Given the description of an element on the screen output the (x, y) to click on. 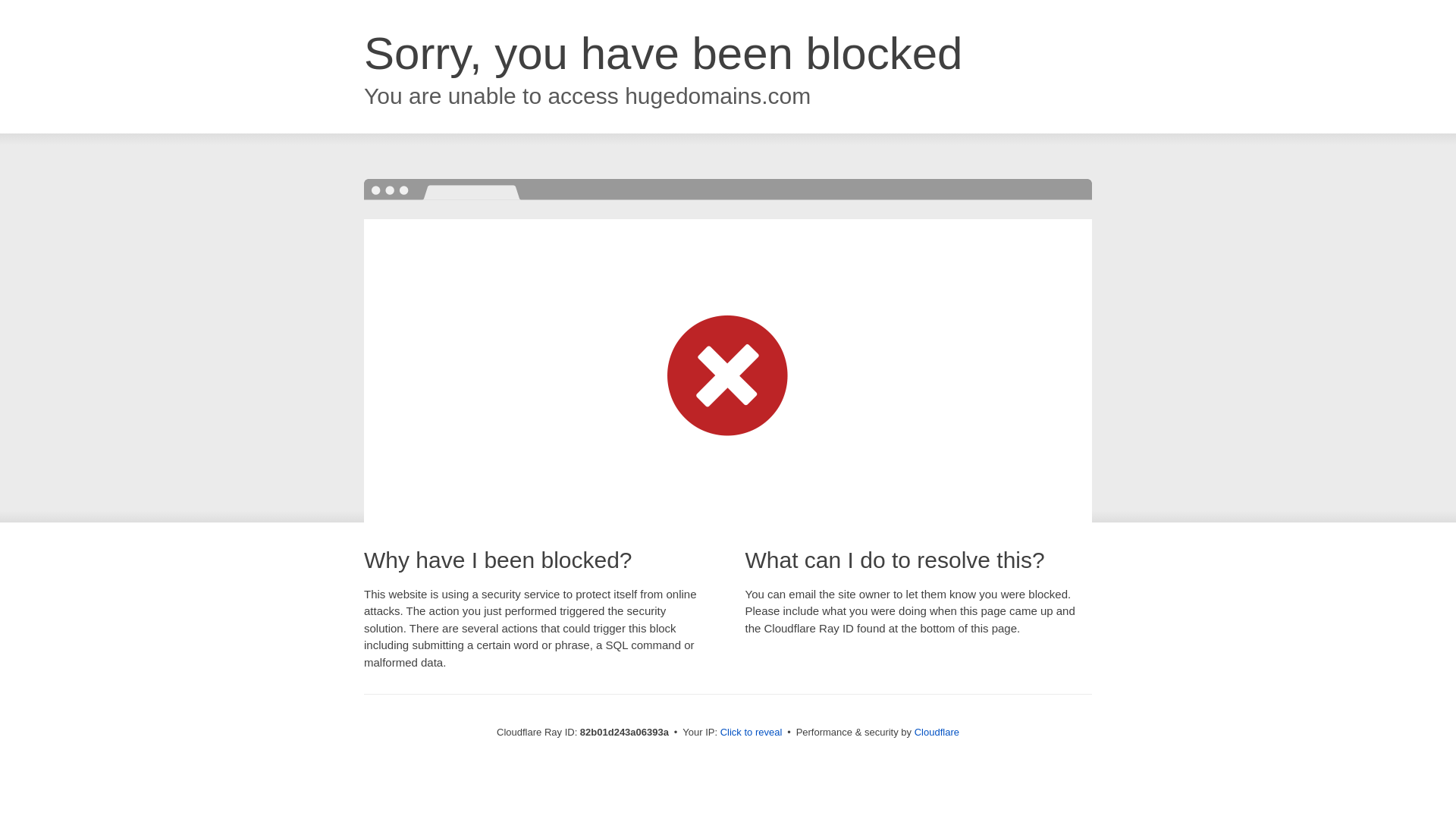
Click to reveal Element type: text (751, 732)
Cloudflare Element type: text (936, 731)
